Given the description of an element on the screen output the (x, y) to click on. 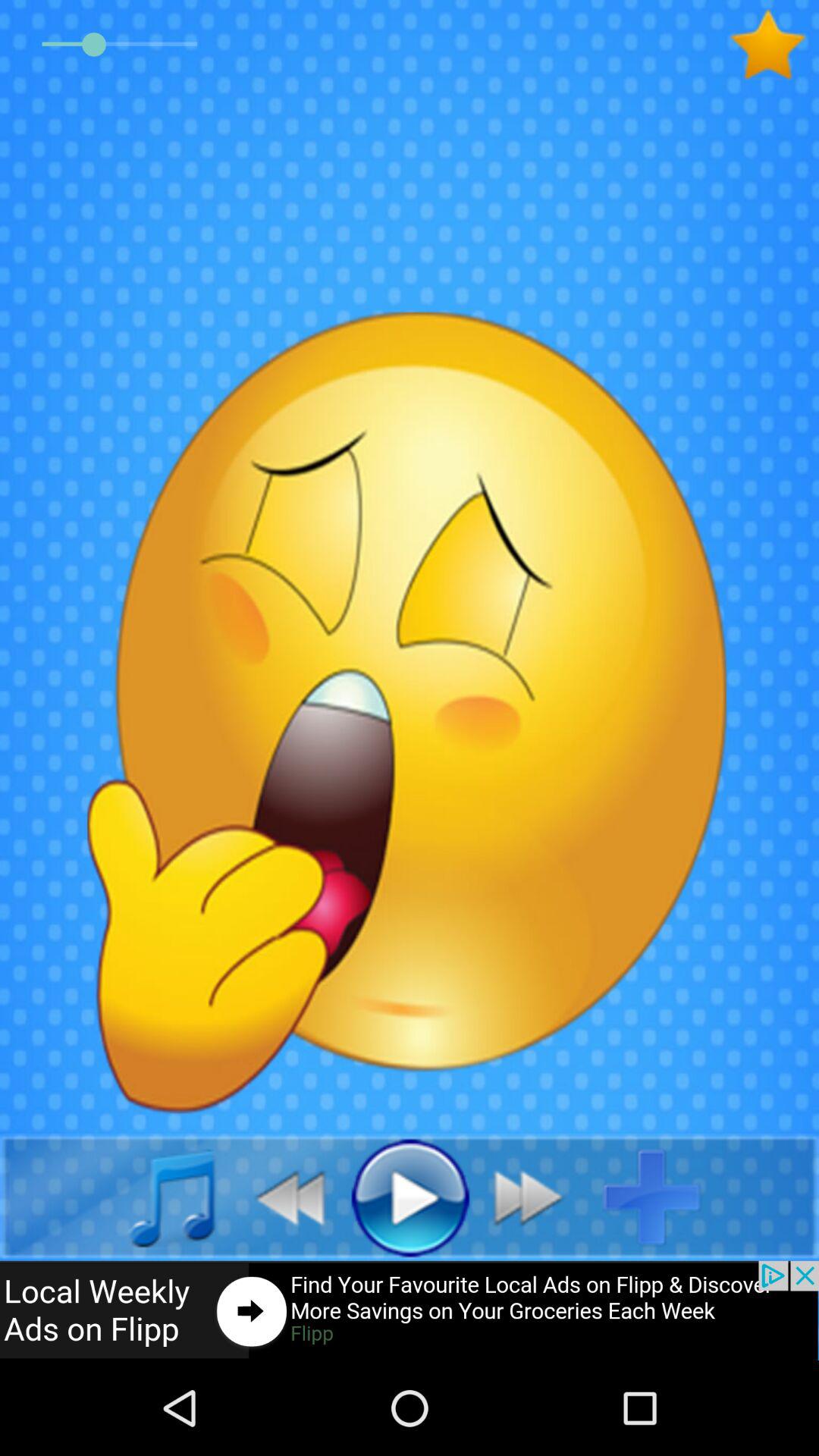
add to (664, 1196)
